Given the description of an element on the screen output the (x, y) to click on. 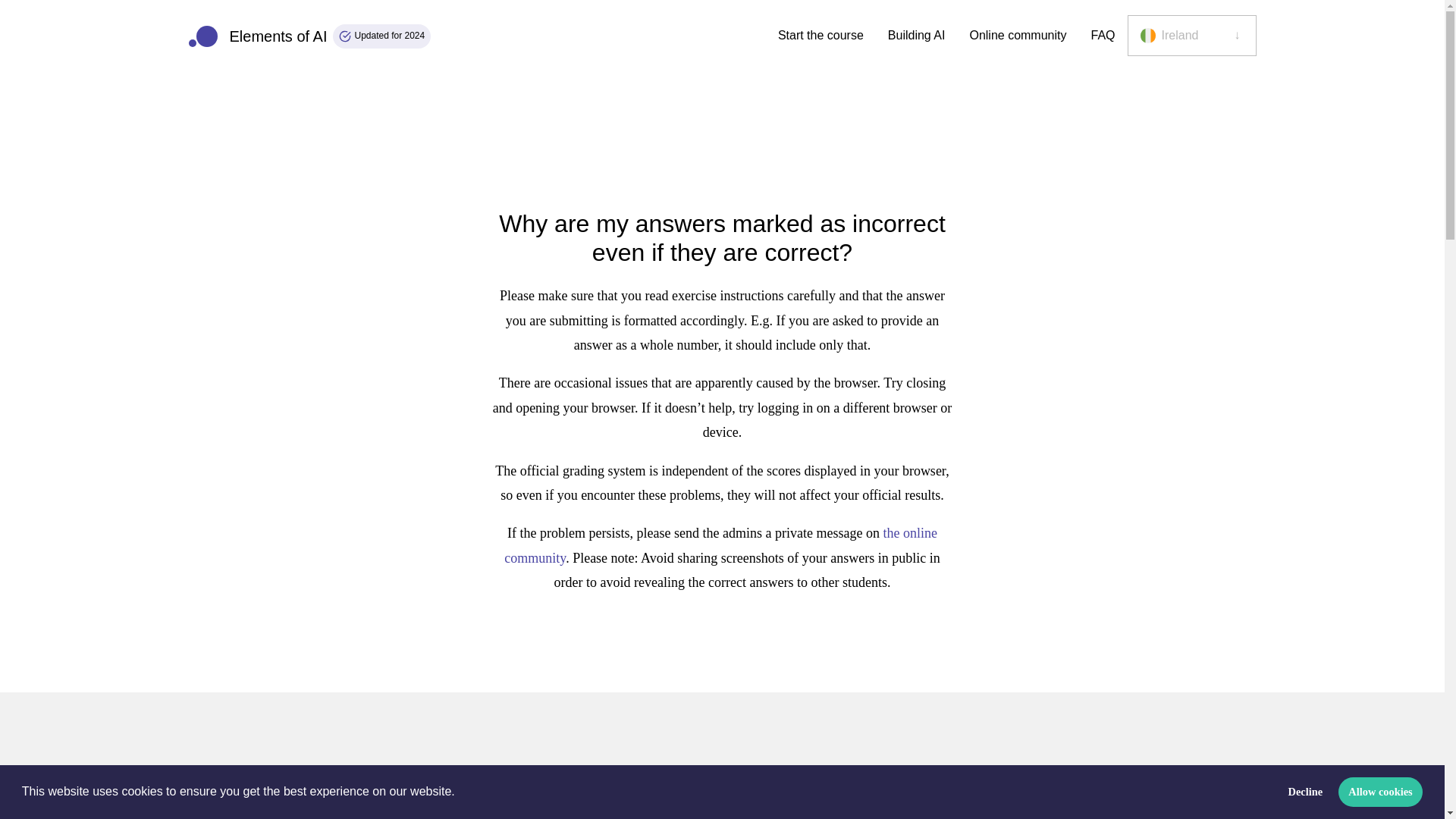
Building AI (917, 36)
Decline (1305, 791)
Online community (1017, 36)
Start the course (820, 36)
Allow cookies (1380, 791)
FAQ (308, 36)
